Given the description of an element on the screen output the (x, y) to click on. 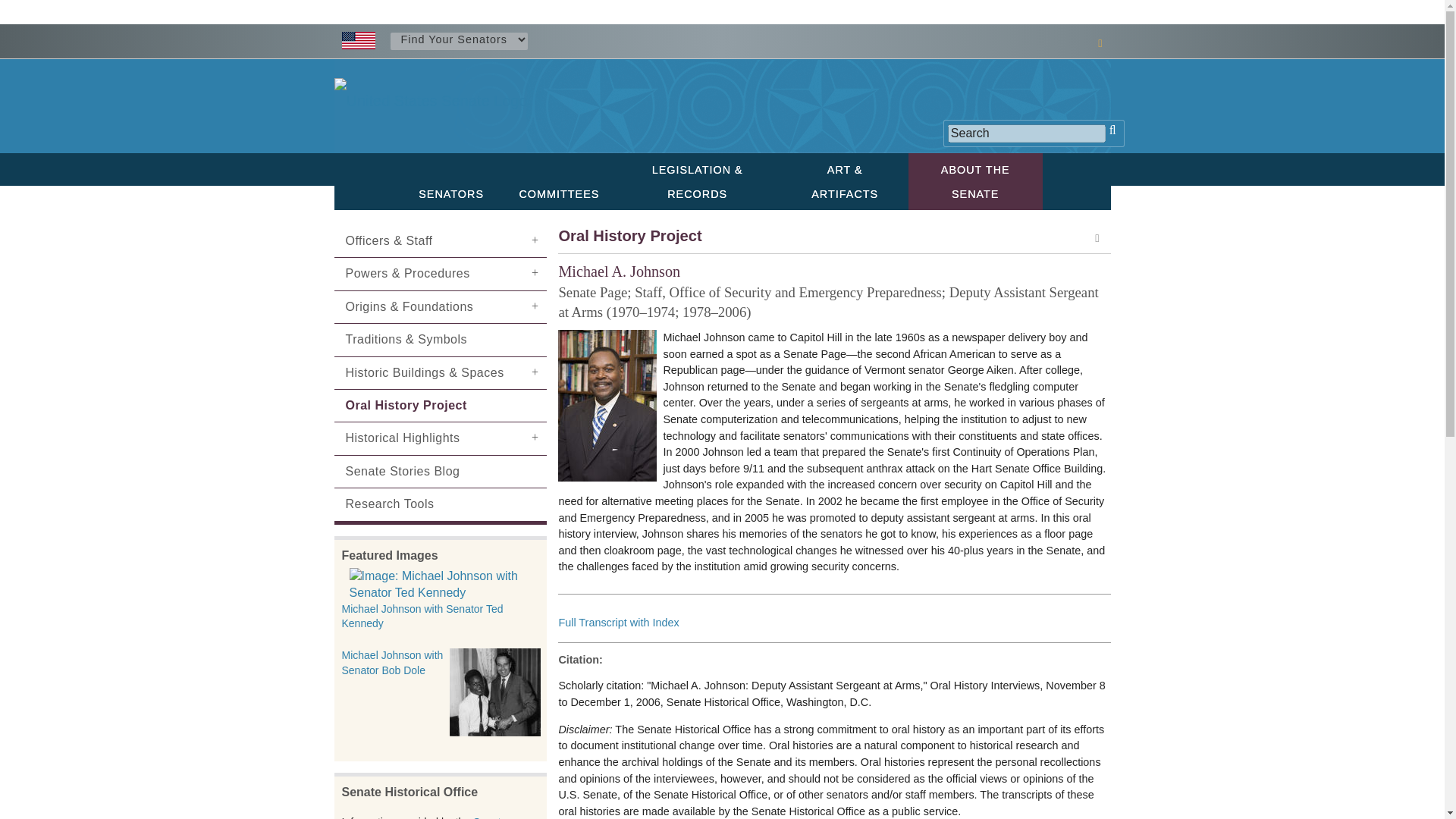
COMMITTEES (556, 193)
Search (1026, 133)
SENATORS (450, 193)
ABOUT THE SENATE (975, 181)
